Given the description of an element on the screen output the (x, y) to click on. 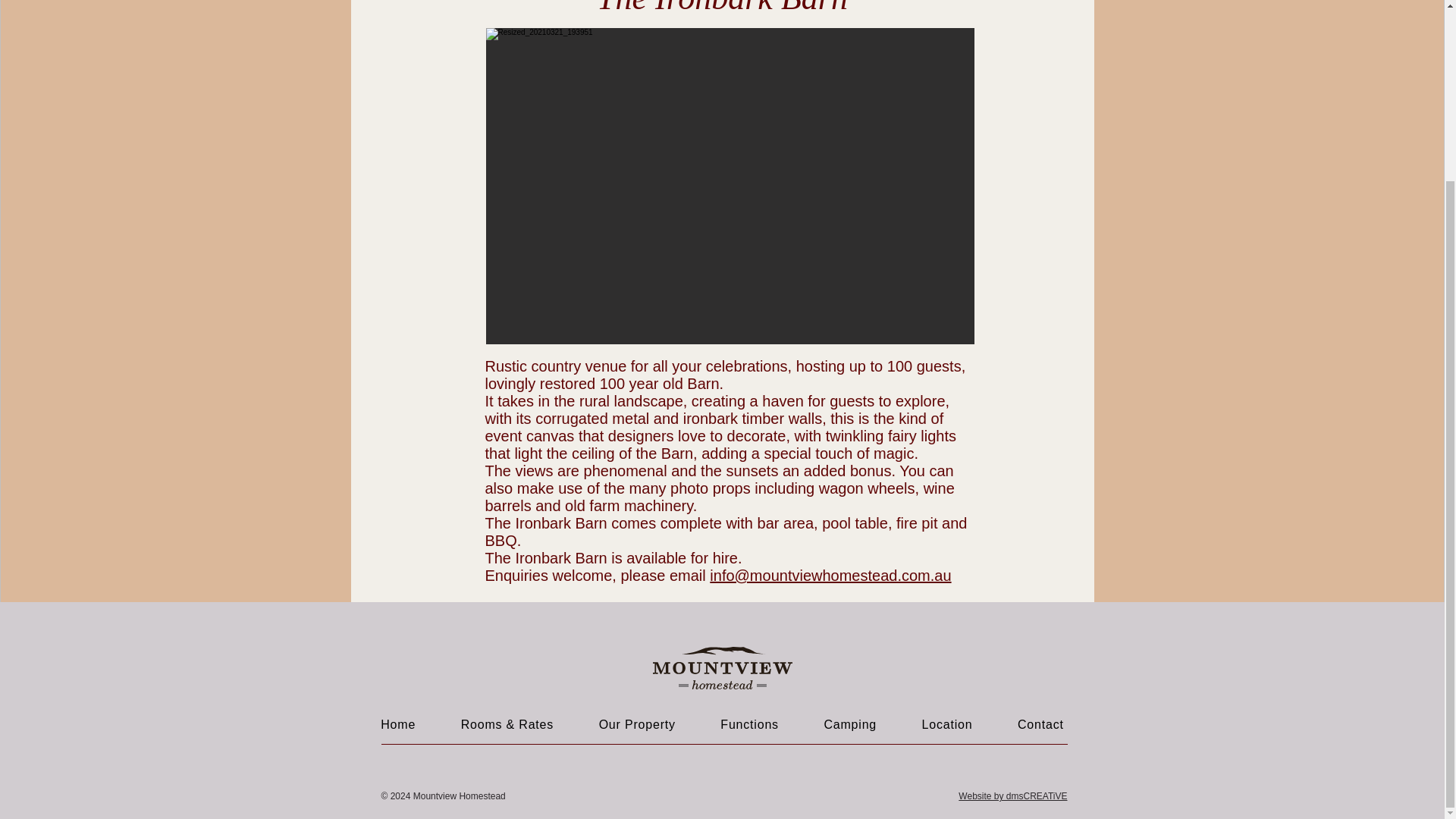
Our Property (637, 724)
Camping (850, 724)
Functions (749, 724)
Location (946, 724)
Website by dmsCREATiVE (1012, 796)
Contact (1040, 724)
Home (397, 724)
